Given the description of an element on the screen output the (x, y) to click on. 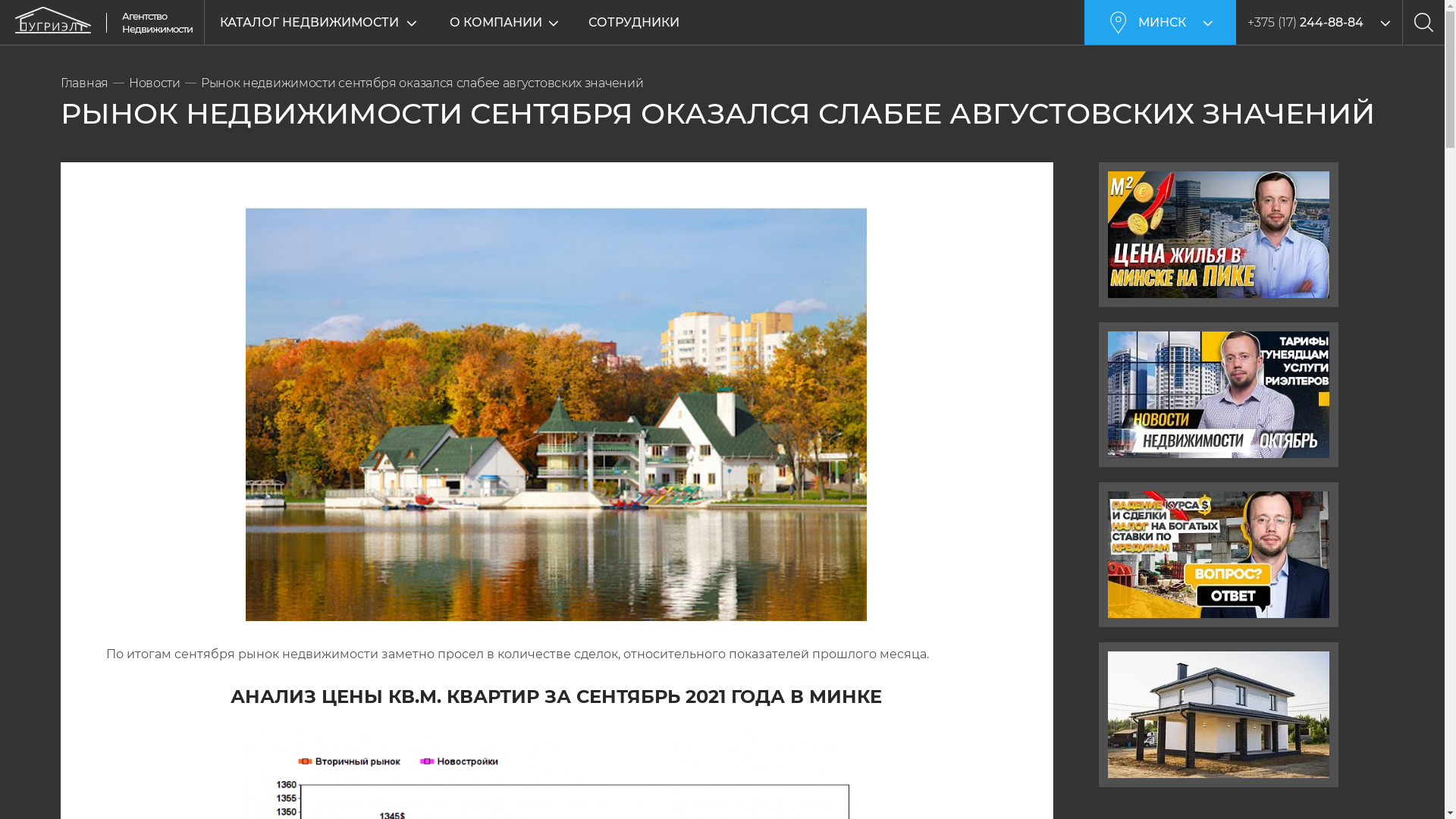
Screenshot_1.jpg Element type: hover (555, 414)
